Given the description of an element on the screen output the (x, y) to click on. 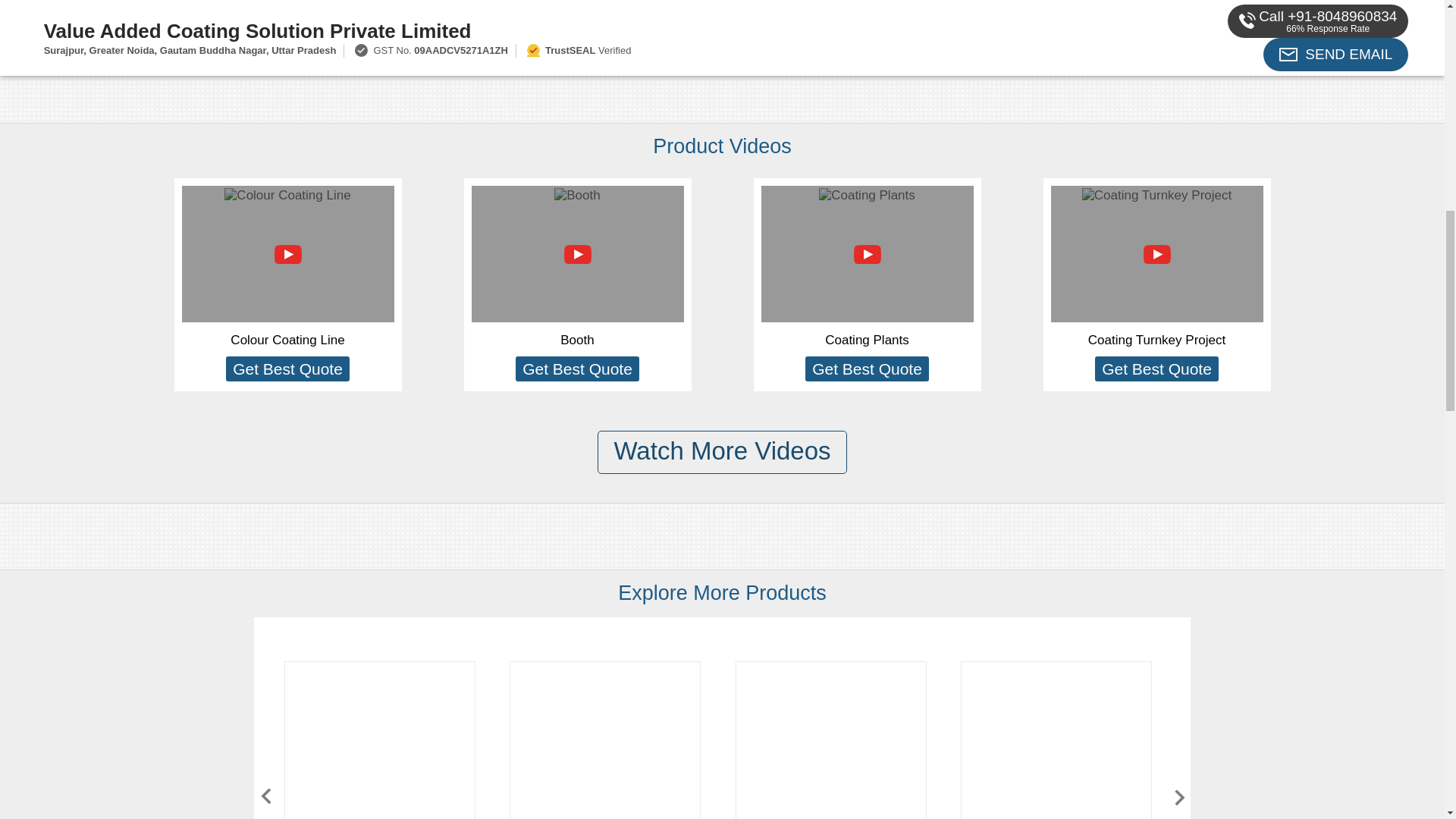
Watch More Videos (720, 452)
Coating Plants (866, 339)
Colour Coating Line (286, 339)
Coating Turnkey Project (1156, 339)
Booth (577, 339)
